Given the description of an element on the screen output the (x, y) to click on. 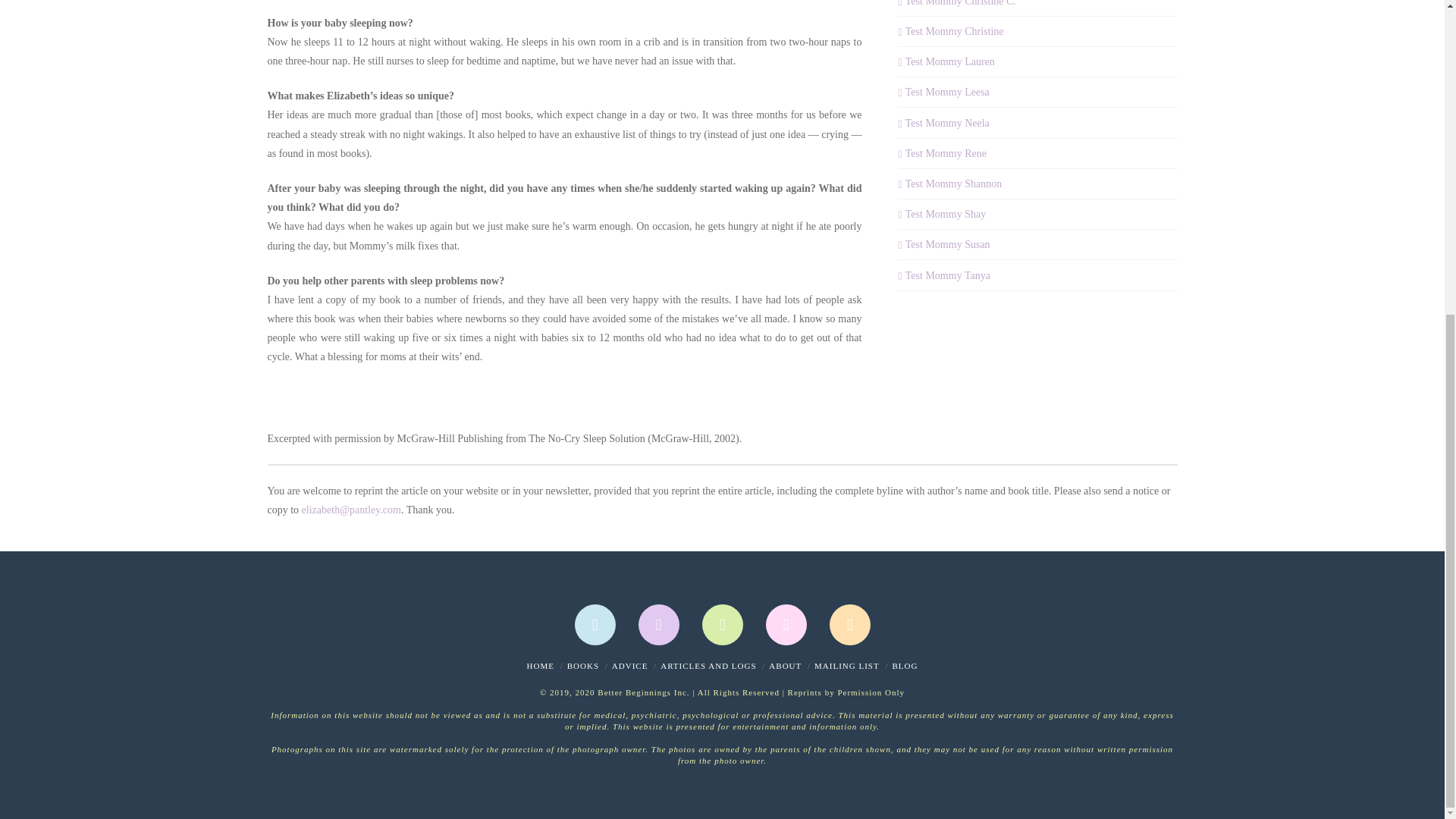
Test Mommy Shay (941, 213)
Test Mommy Shannon (949, 183)
Test Mommy Christine (950, 31)
Pinterest (785, 624)
Instagram (721, 624)
RSS (849, 624)
Test Mommy Neela (943, 123)
Test Mommy Rene (941, 153)
Test Mommy Tanya (944, 275)
Test Mommy Christine C. (956, 4)
Facebook (595, 624)
Test Mommy Leesa (943, 91)
Test Mommy Susan (944, 244)
Test Mommy Lauren (946, 61)
